Given the description of an element on the screen output the (x, y) to click on. 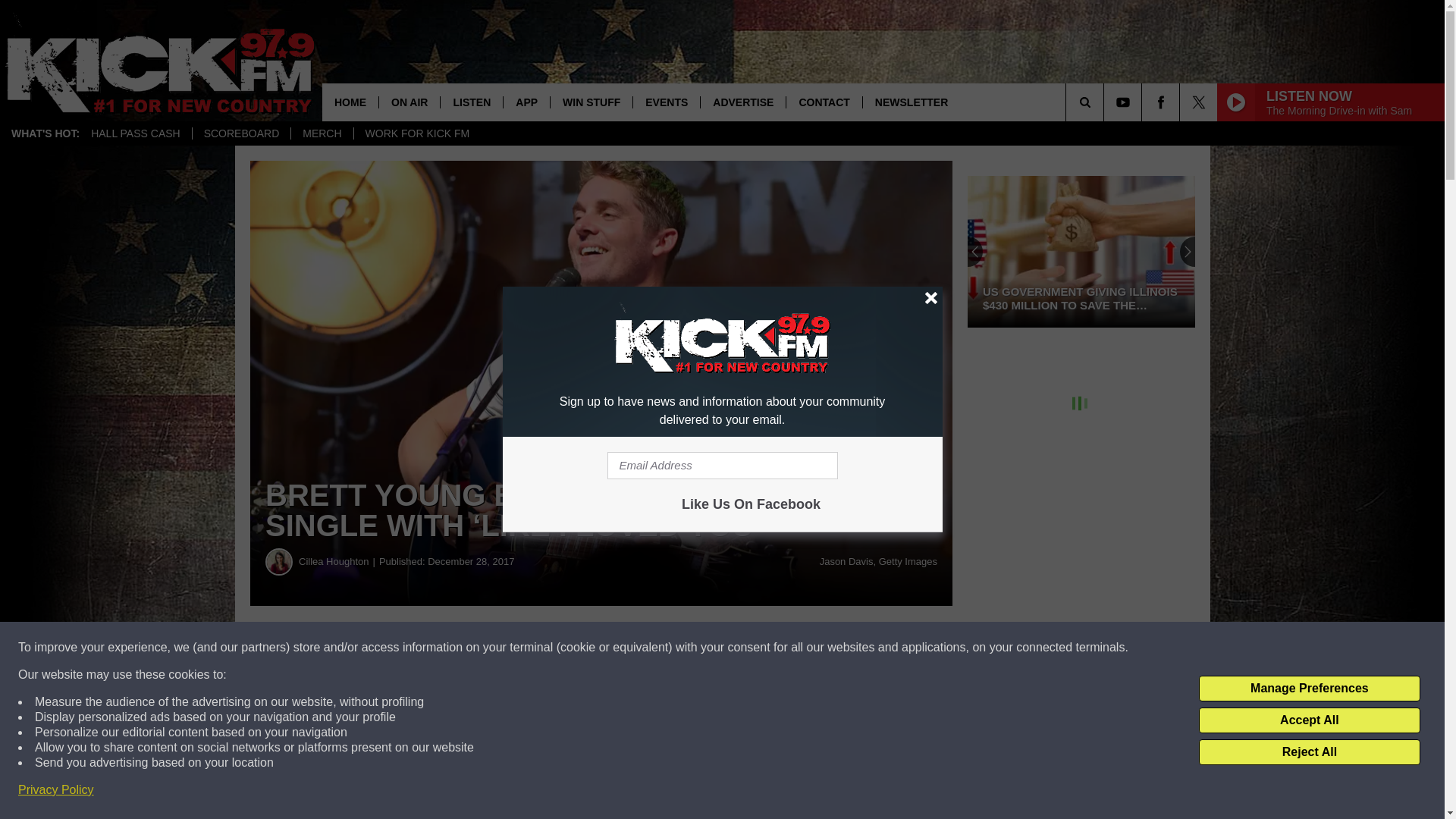
Share on Twitter (741, 647)
Email Address (722, 465)
MERCH (320, 133)
HOME (349, 102)
Privacy Policy (55, 789)
ADVERTISE (743, 102)
APP (526, 102)
WORK FOR KICK FM (417, 133)
EVENTS (665, 102)
Reject All (1309, 751)
WIN STUFF (590, 102)
Manage Preferences (1309, 688)
LISTEN (470, 102)
ON AIR (408, 102)
Share on Facebook (460, 647)
